Given the description of an element on the screen output the (x, y) to click on. 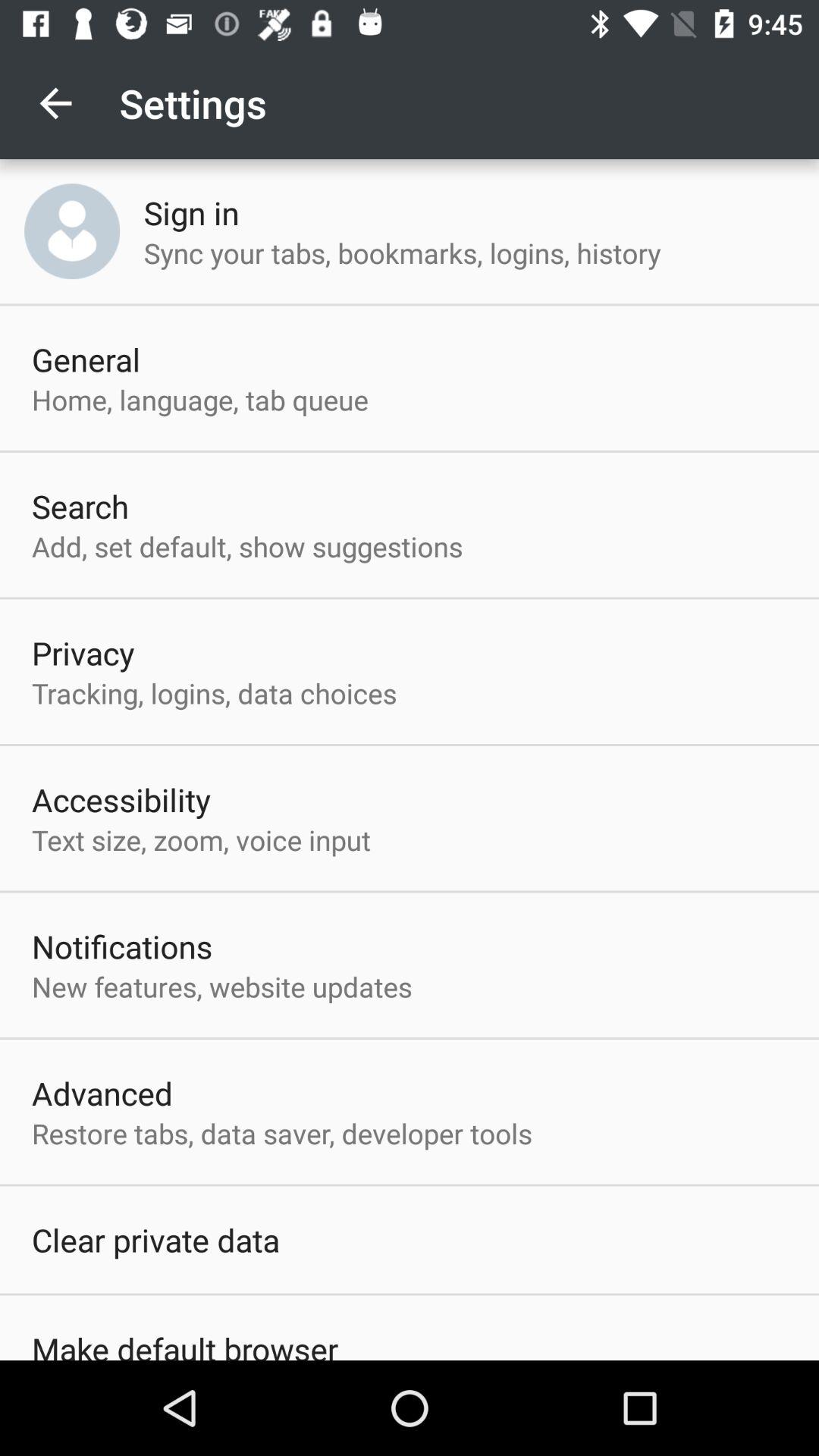
press icon below new features website icon (101, 1092)
